Given the description of an element on the screen output the (x, y) to click on. 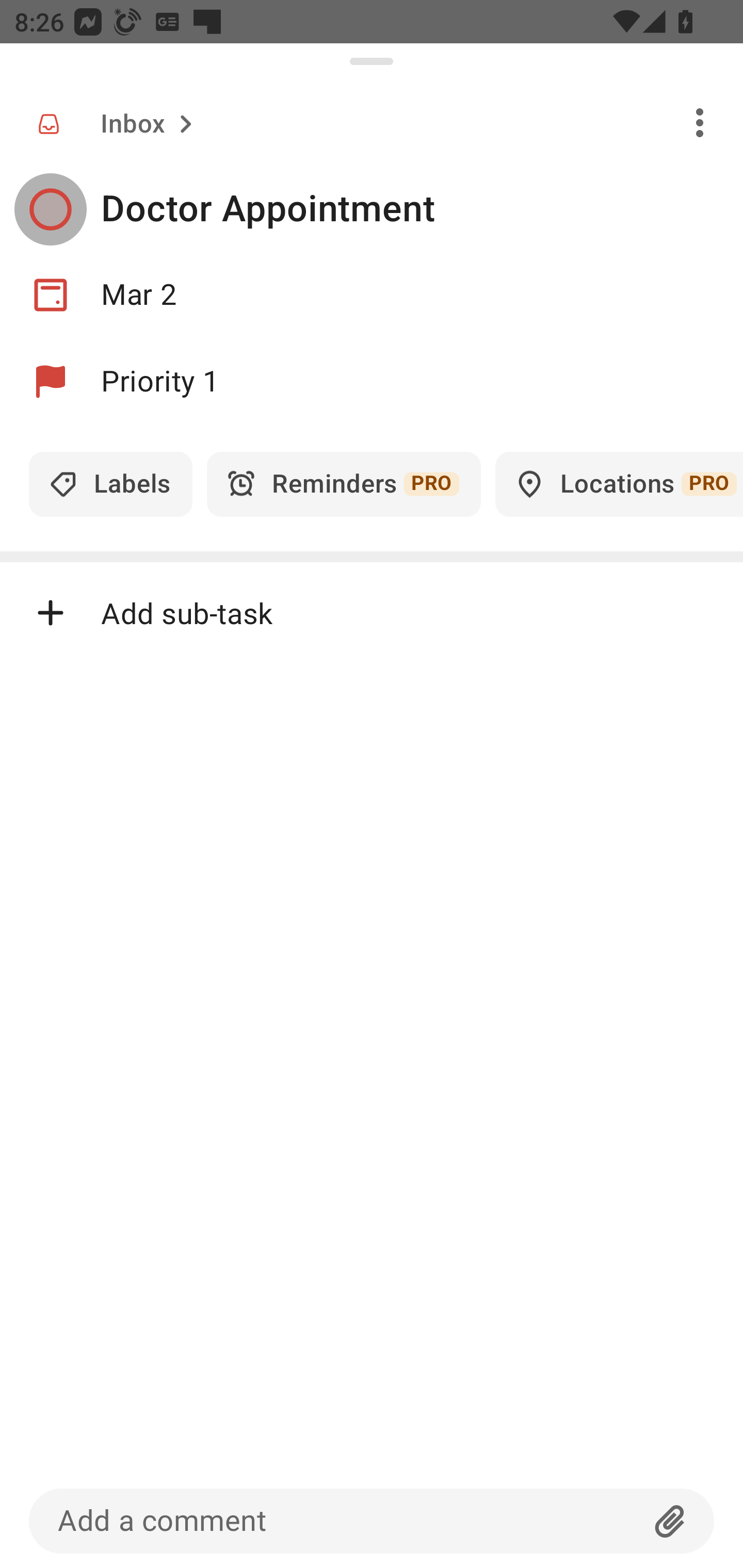
Overflow menu (699, 122)
Complete (50, 209)
Doctor Appointment​ (422, 209)
Date Mar 2 (371, 295)
Priority Priority 1 (371, 381)
Labels (110, 484)
Reminders PRO (343, 484)
Locations PRO (619, 484)
Add sub-task (371, 612)
Add a comment Attachment (371, 1520)
Attachment (670, 1520)
